Given the description of an element on the screen output the (x, y) to click on. 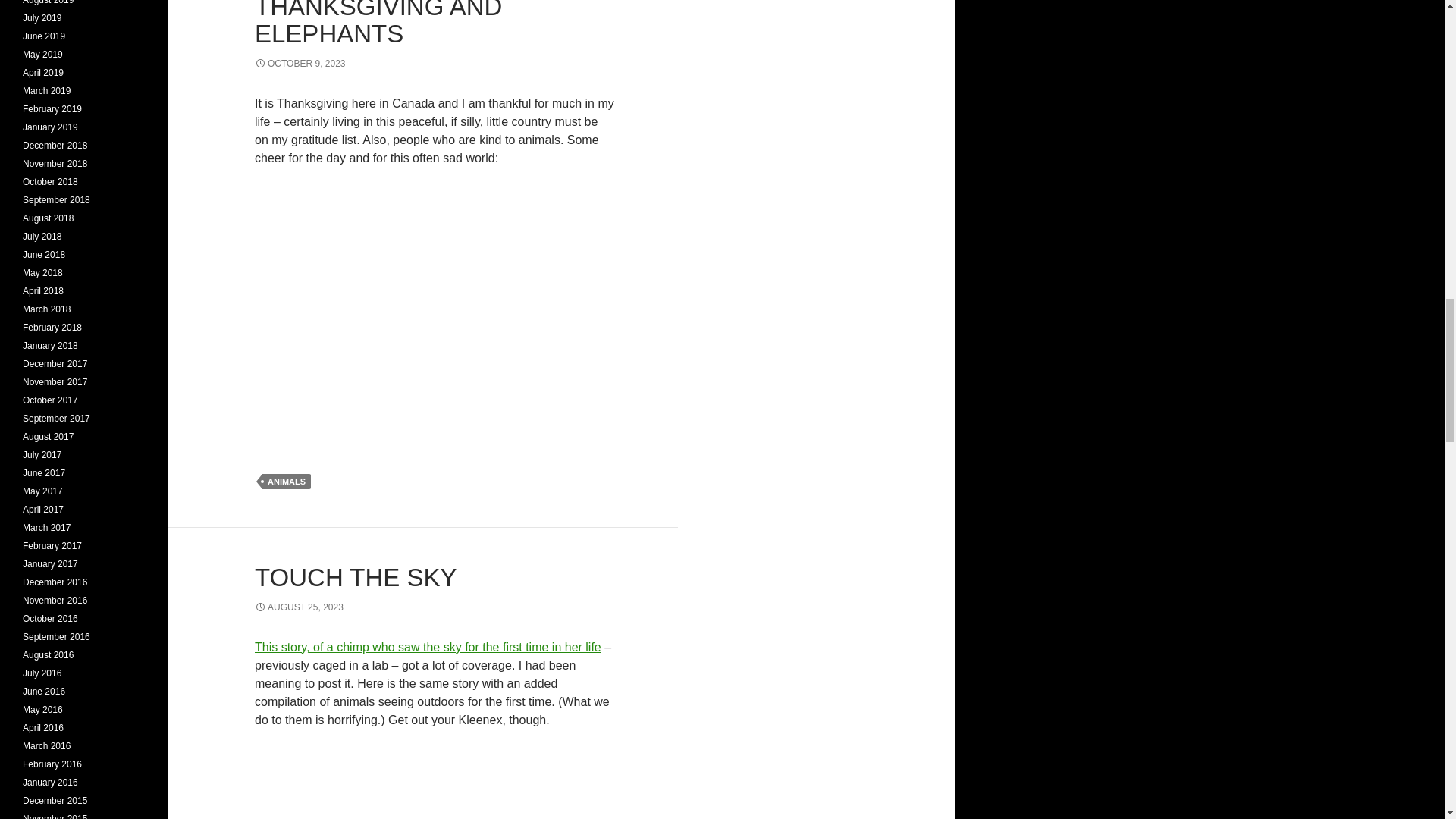
OCTOBER 9, 2023 (300, 63)
THANKSGIVING AND ELEPHANTS (378, 23)
ANIMALS (286, 481)
